Given the description of an element on the screen output the (x, y) to click on. 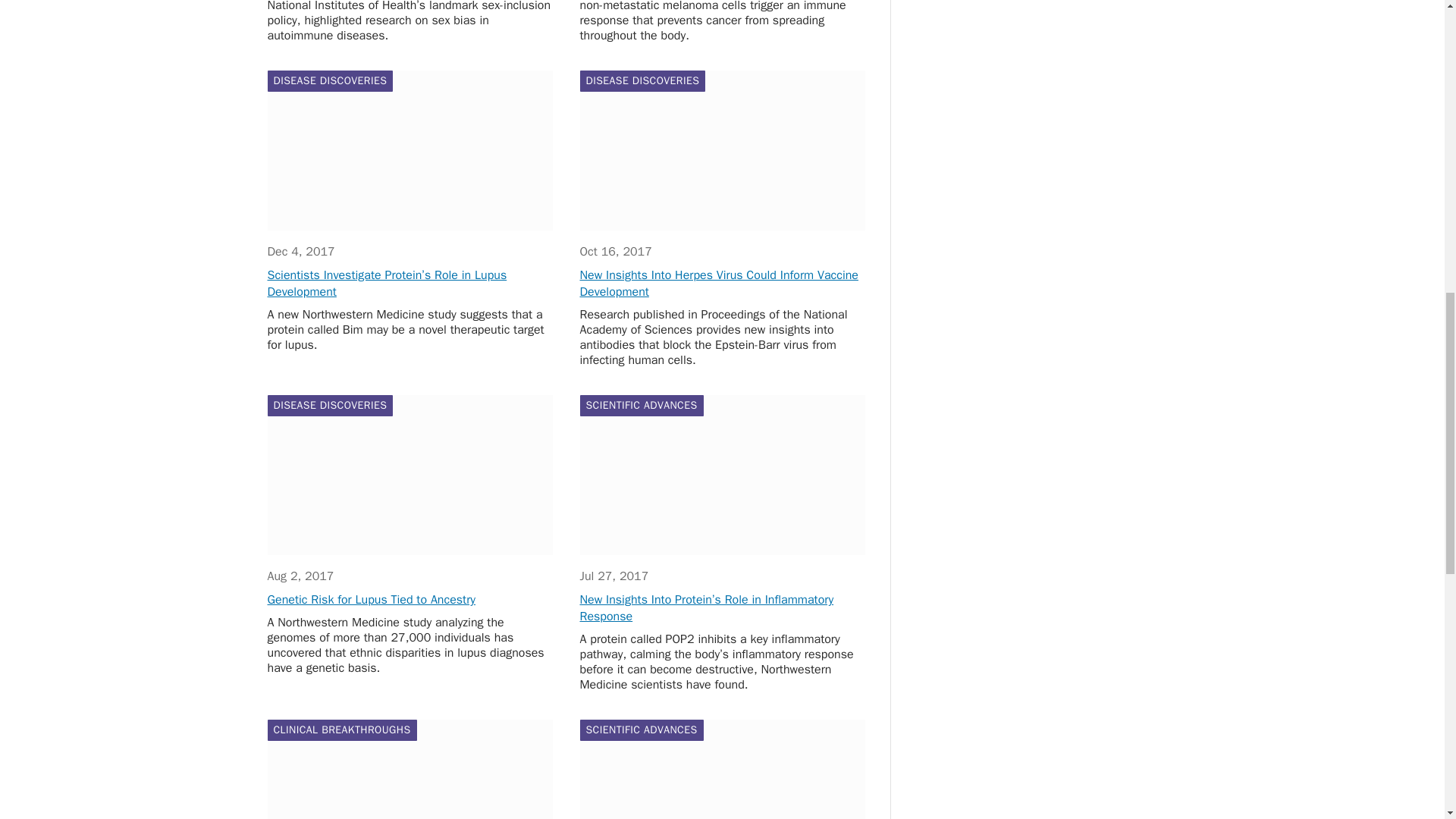
Genetic Risk for Lupus Tied to Ancestry (408, 475)
Identifying a Novel Target for Cancer Immunotherapy (721, 769)
